Given the description of an element on the screen output the (x, y) to click on. 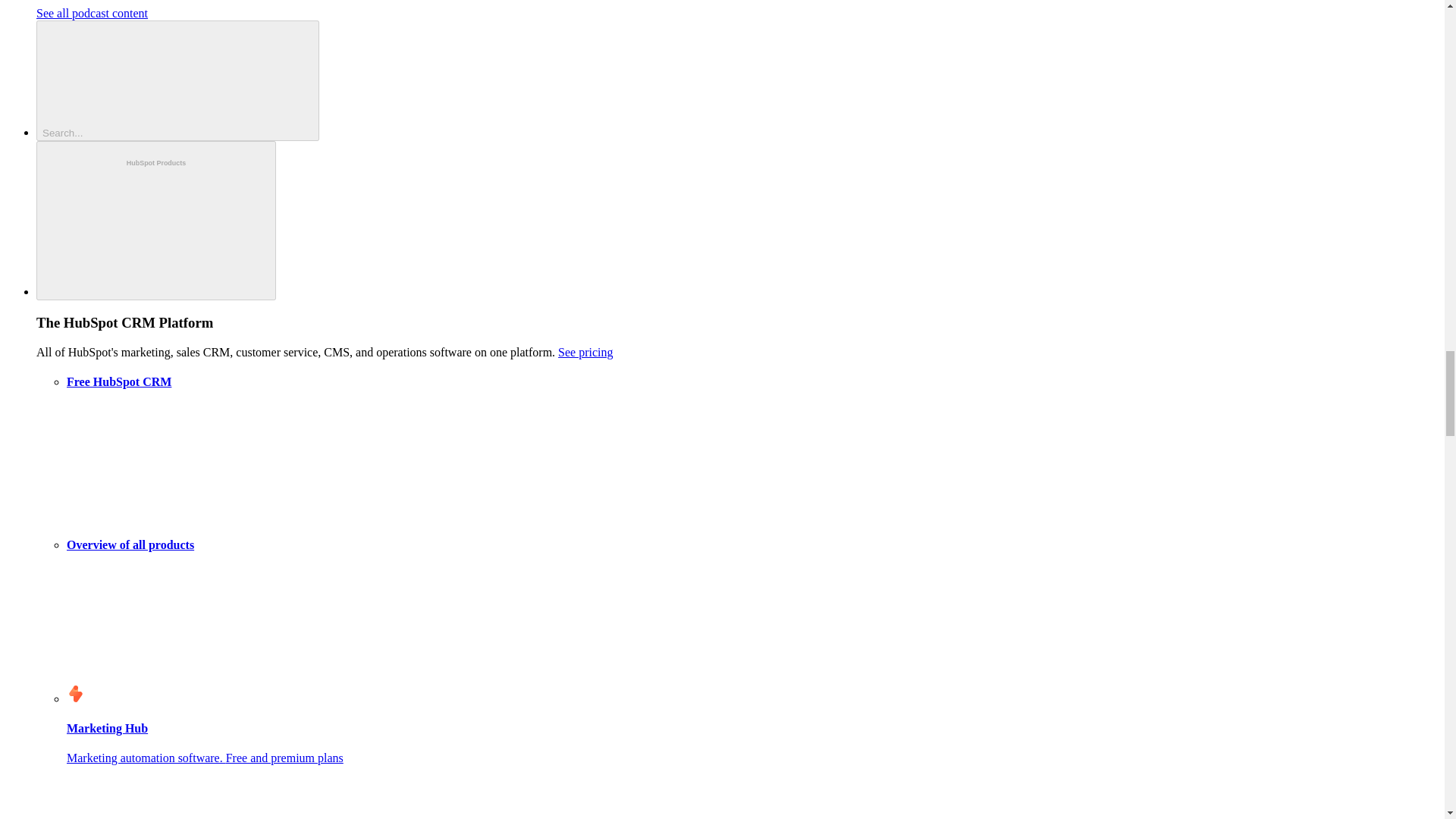
Search... (177, 80)
HubSpot Products (156, 220)
See pricing (584, 351)
See all podcast content (92, 12)
